Given the description of an element on the screen output the (x, y) to click on. 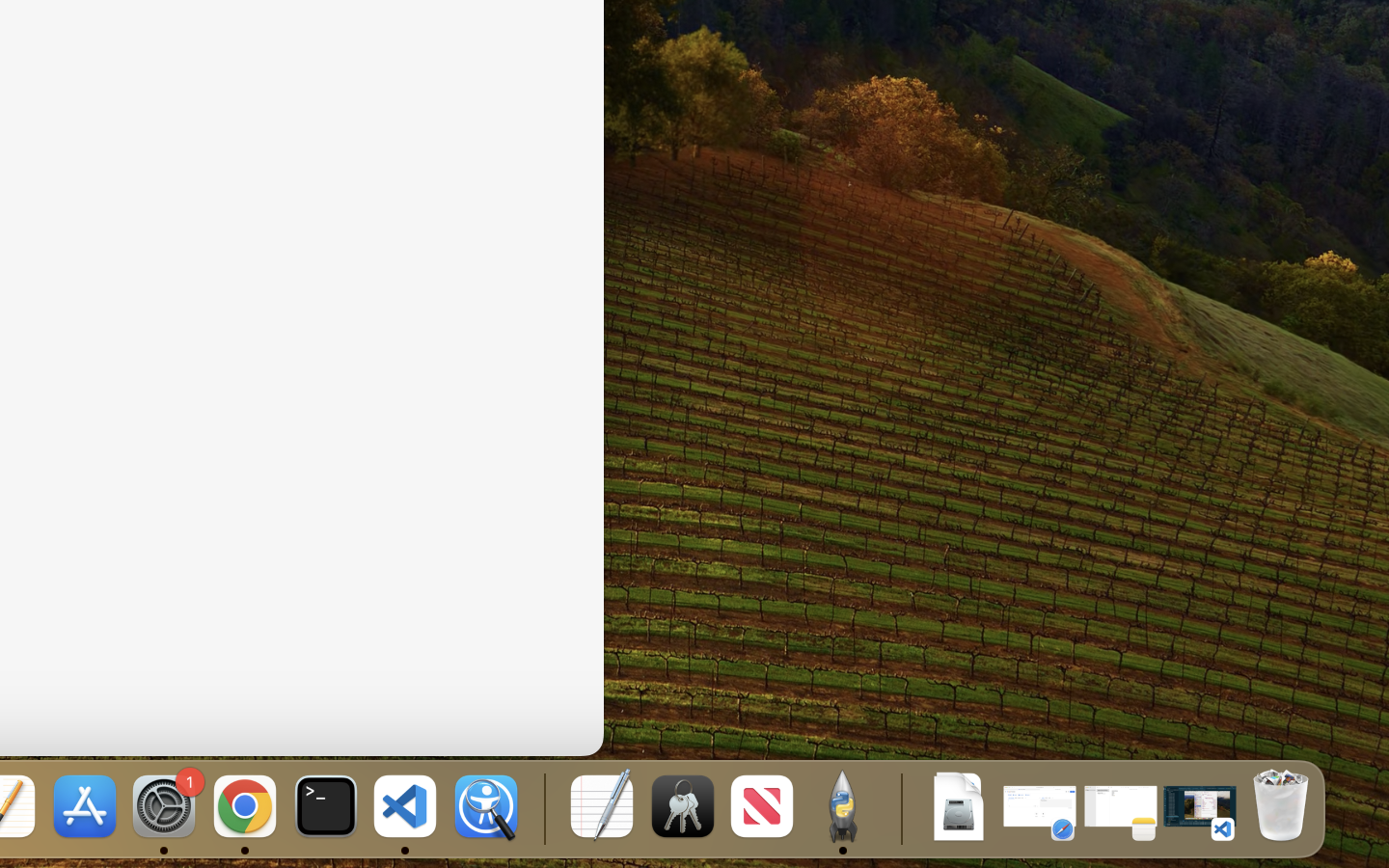
0.4285714328289032 Element type: AXDockItem (541, 807)
